Given the description of an element on the screen output the (x, y) to click on. 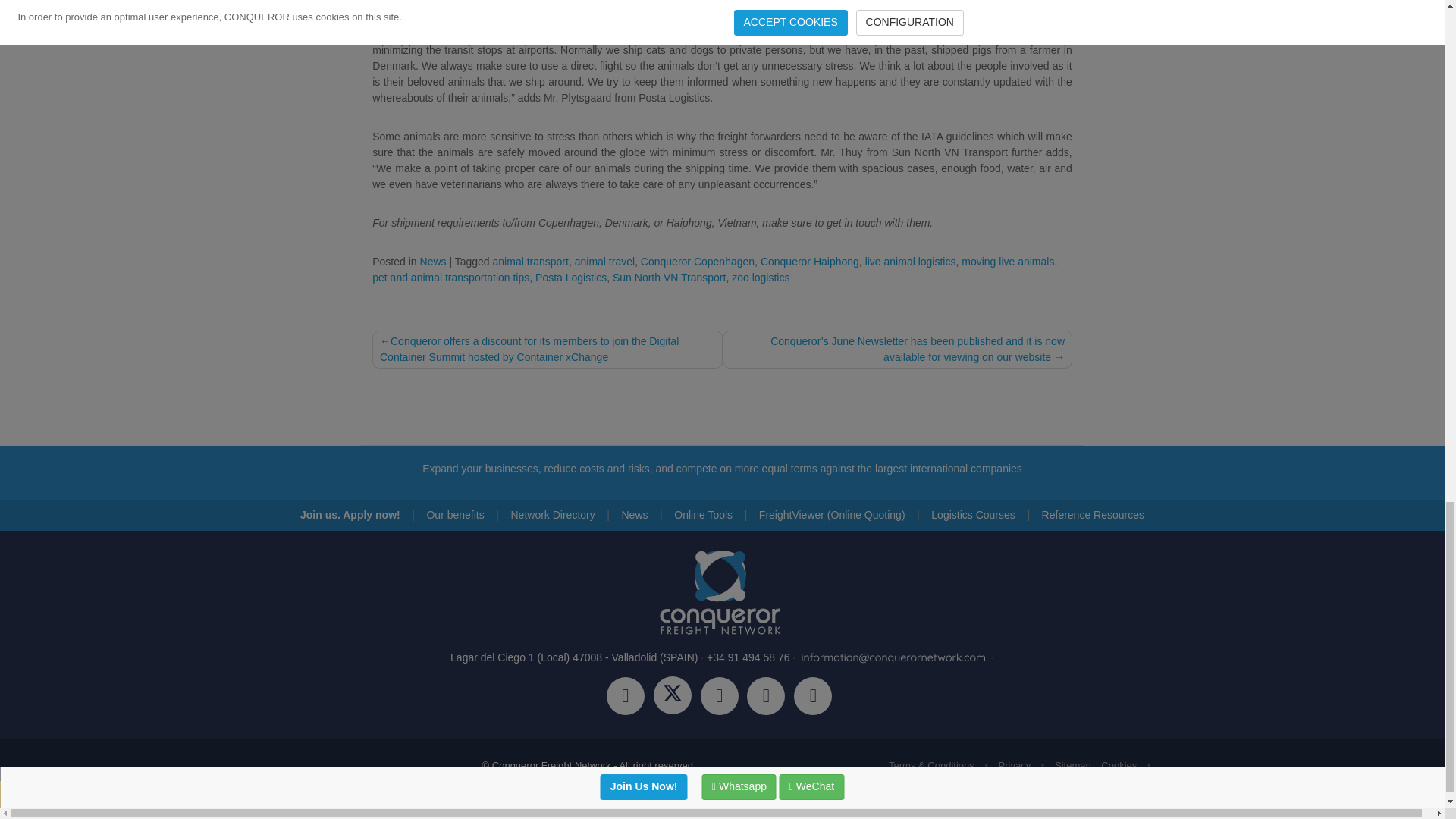
moving live animals (1007, 261)
animal travel (604, 261)
Facebook (630, 698)
News (433, 261)
Instagram (724, 698)
Twitter (676, 698)
animal transport (531, 261)
Linkedin (769, 698)
Conqueror Copenhagen (697, 261)
Youtube (815, 698)
